Given the description of an element on the screen output the (x, y) to click on. 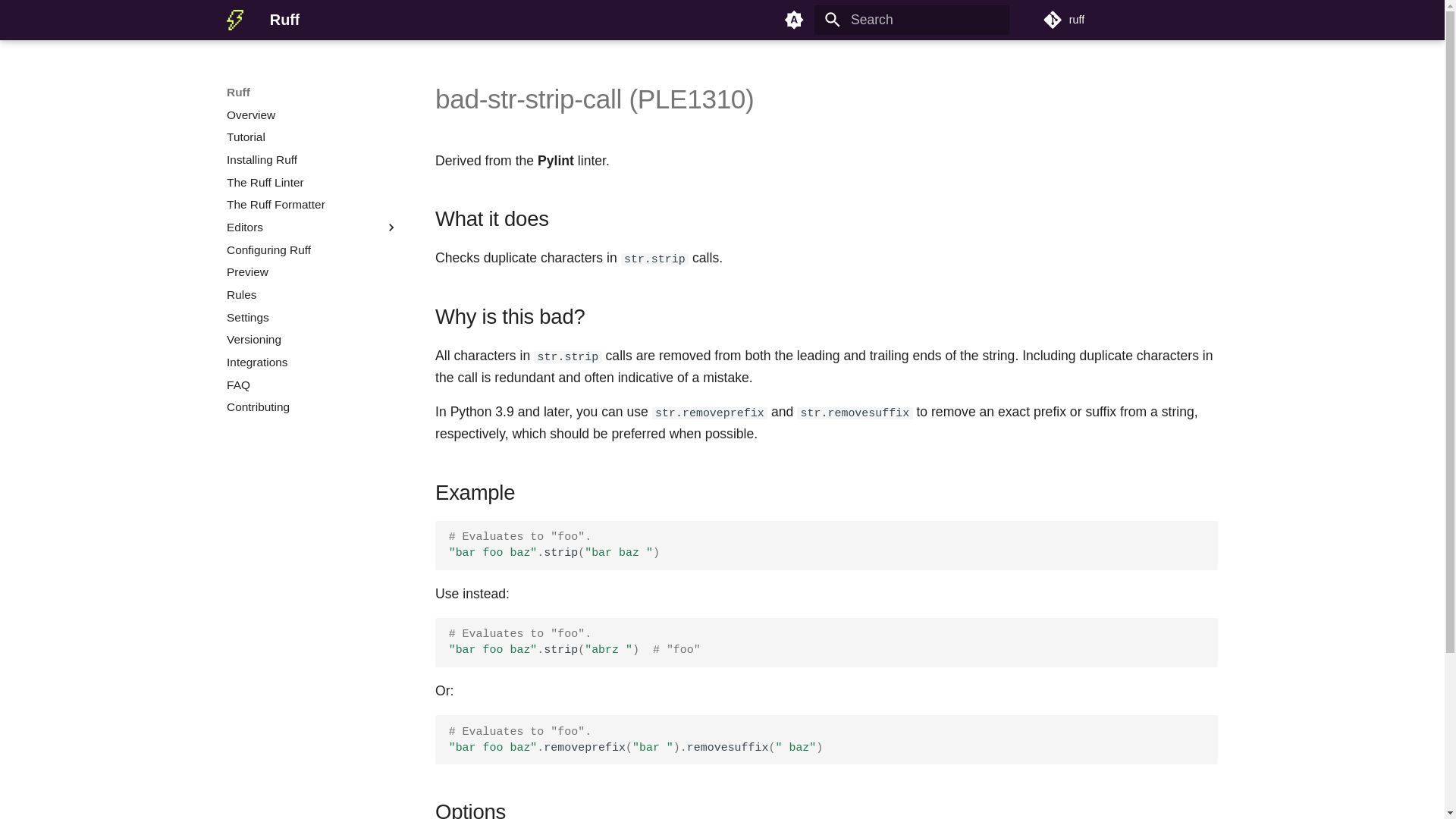
Contributing (312, 406)
Installing Ruff (312, 159)
The Ruff Formatter (312, 204)
FAQ (312, 385)
Configuring Ruff (312, 249)
Tutorial (312, 136)
The Ruff Linter (312, 182)
Integrations (312, 362)
Settings (312, 317)
Rules (312, 294)
